Given the description of an element on the screen output the (x, y) to click on. 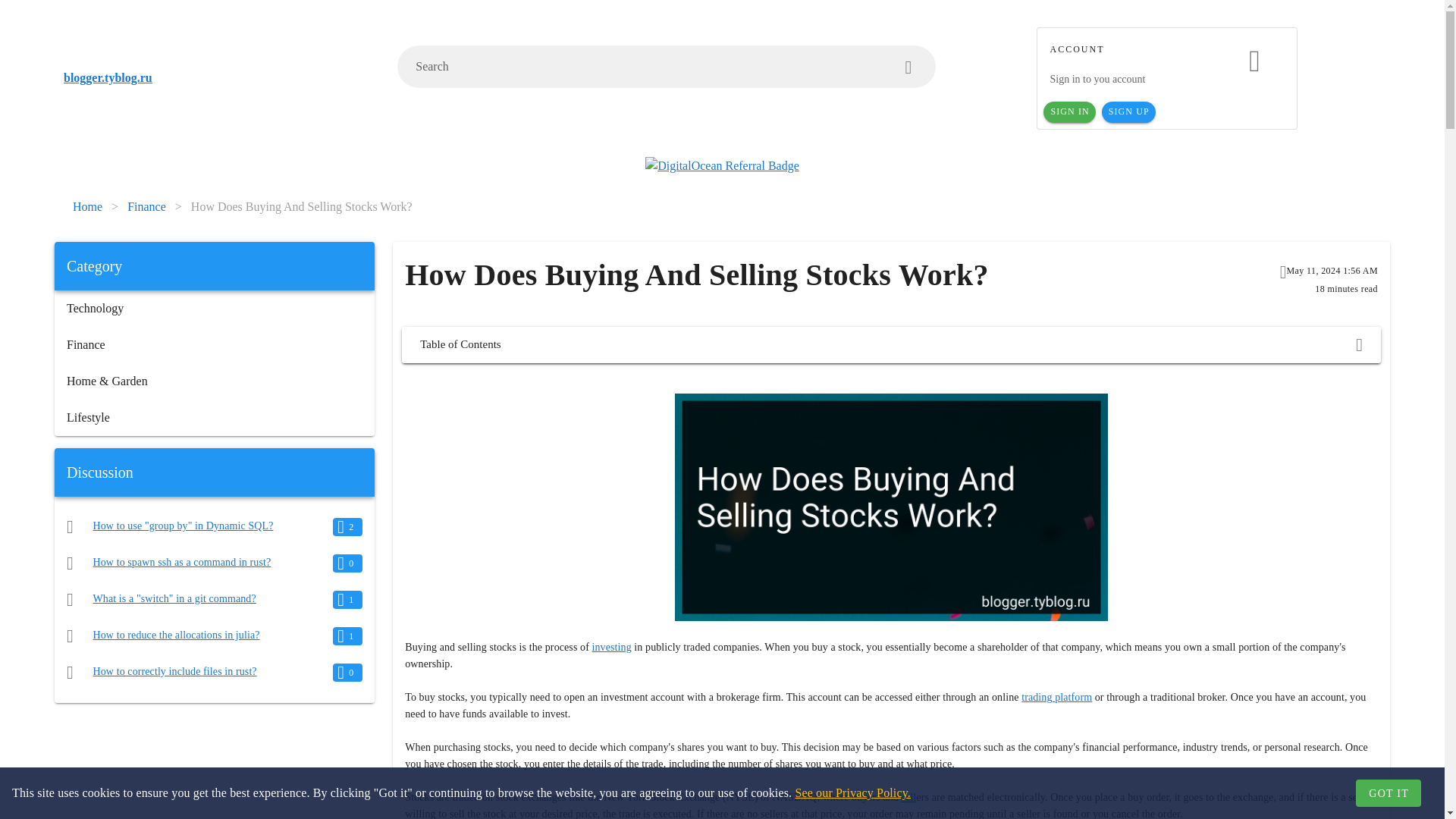
How to use "group by" in Dynamic SQL? (183, 525)
SIGN UP (1129, 111)
investing (611, 646)
How to reduce the allocations in julia? (176, 634)
What is a "switch" in a git command? (174, 598)
How to reduce the allocations in julia? (176, 634)
Table of Contents (890, 344)
sell (909, 797)
Finance (214, 344)
trading platform (1057, 696)
How to spawn ssh as a command in rust? (181, 562)
How to use "group by" in Dynamic SQL? (183, 525)
How to correctly include files in rust? (175, 671)
Home (86, 207)
Technology (214, 308)
